Given the description of an element on the screen output the (x, y) to click on. 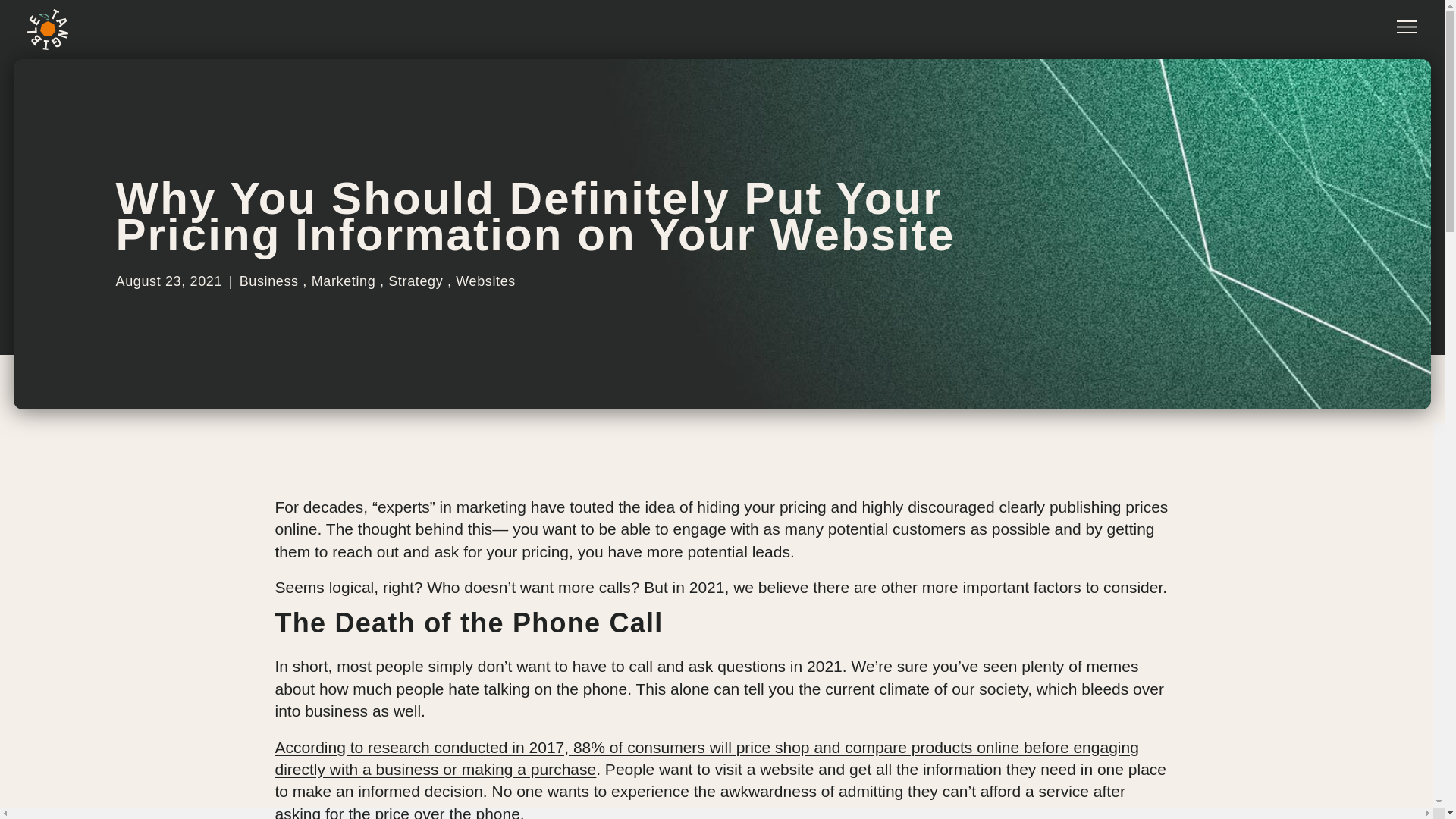
Websites (485, 281)
Business (269, 281)
Strategy (415, 281)
Marketing (343, 281)
